Given the description of an element on the screen output the (x, y) to click on. 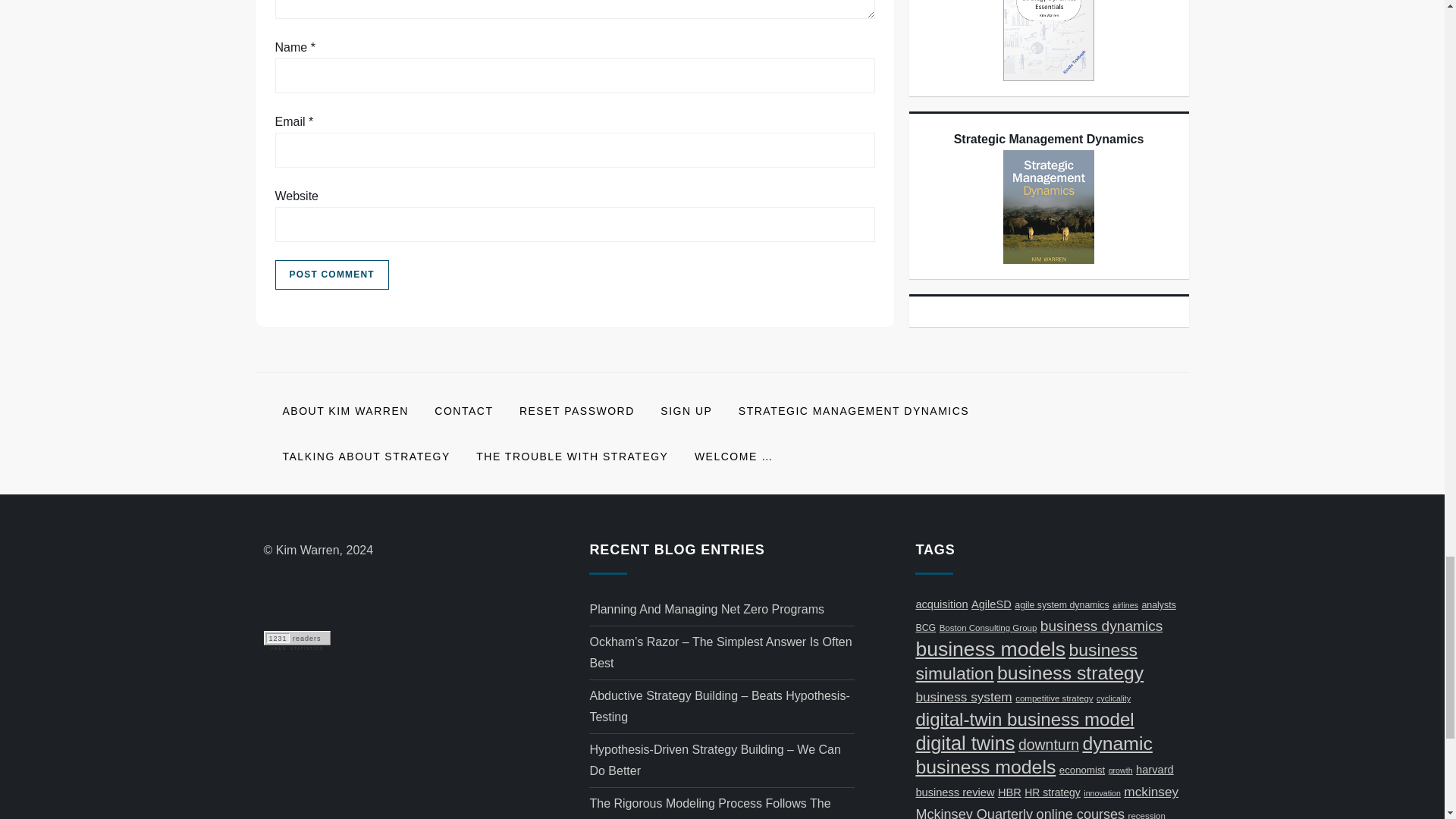
Post Comment (331, 275)
Post Comment (331, 275)
